Given the description of an element on the screen output the (x, y) to click on. 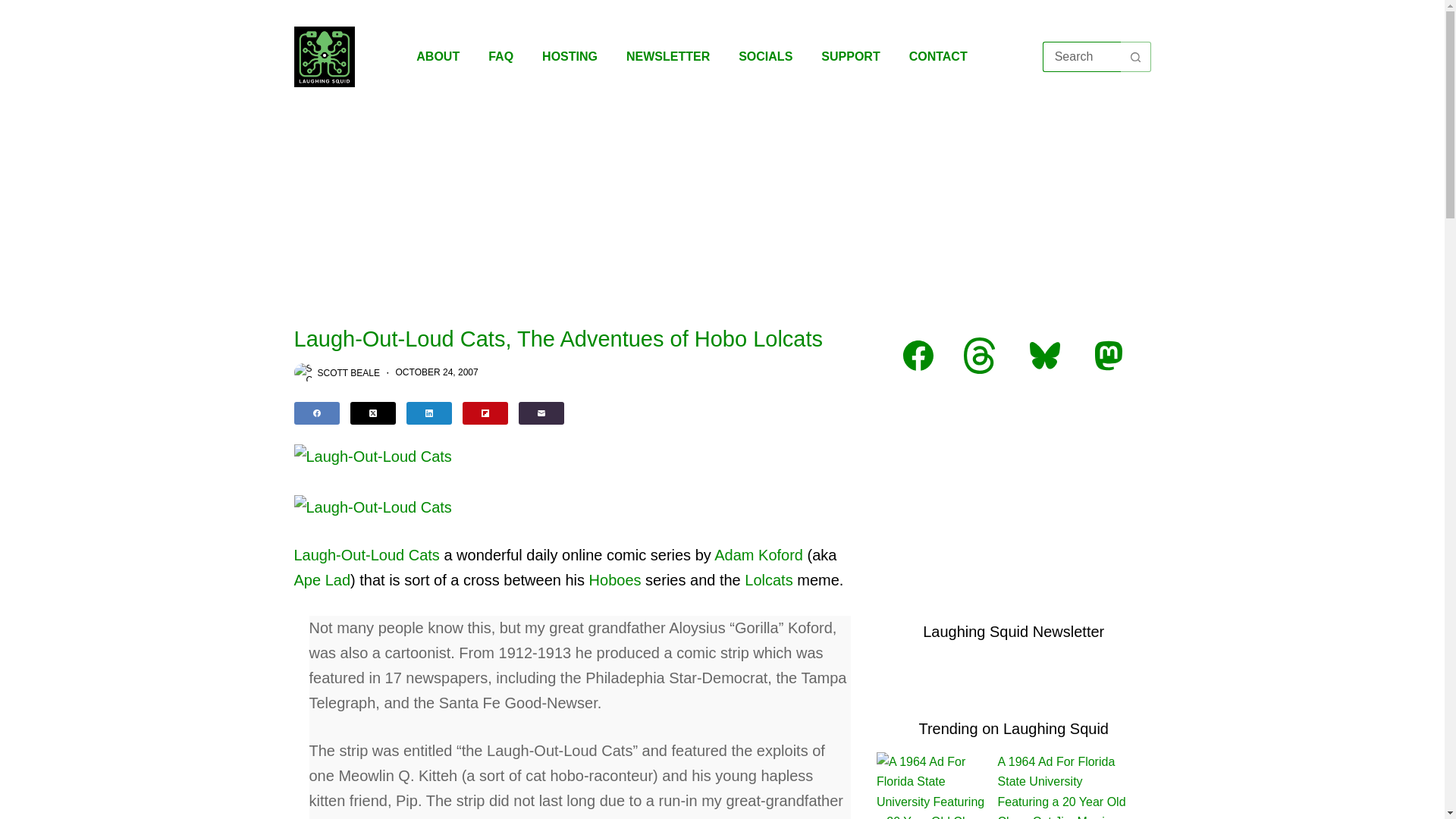
Adam Koford (758, 555)
Ape Lad (322, 579)
Lolcats (768, 579)
Skip to content (15, 7)
Hoboes (615, 579)
Laugh-Out-Loud Cats, The Adventues of Hobo Lolcats (572, 338)
NEWSLETTER (667, 56)
Laugh-Out-Loud Cats (366, 555)
SCOTT BEALE (347, 371)
Posts by Scott Beale (347, 371)
Search for... (1081, 56)
